Given the description of an element on the screen output the (x, y) to click on. 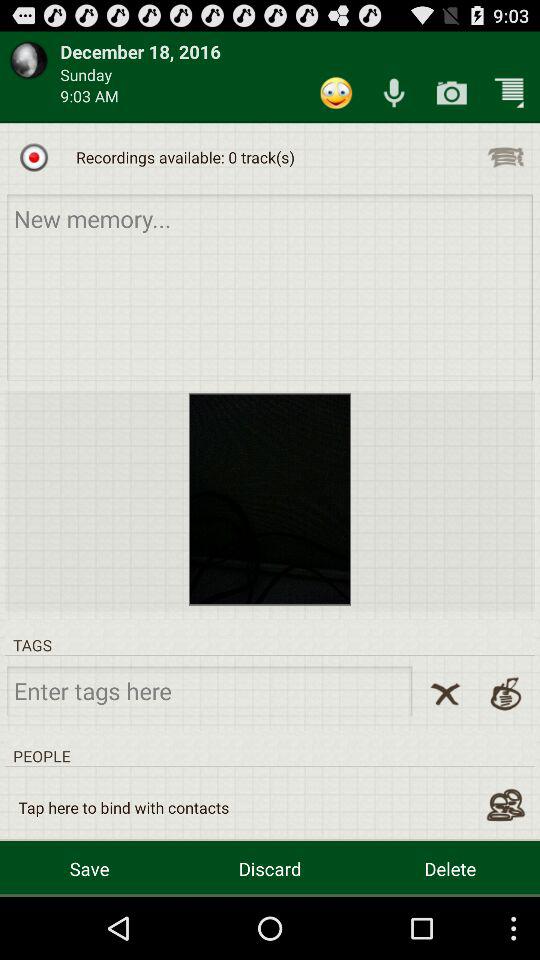
recordings available (34, 157)
